Given the description of an element on the screen output the (x, y) to click on. 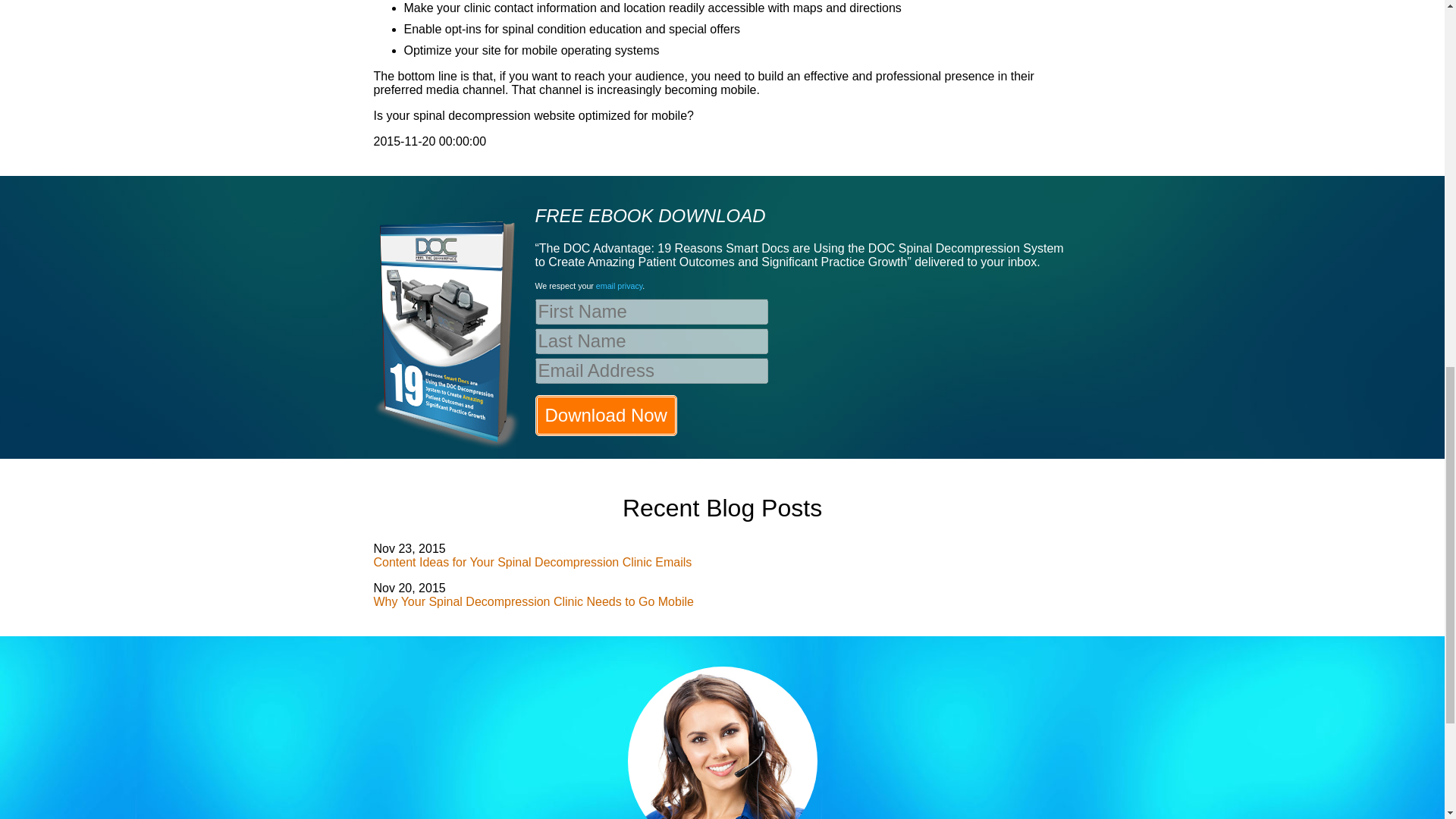
Why Your Spinal Decompression Clinic Needs to Go Mobile (532, 601)
email privacy (618, 285)
Content Ideas for Your Spinal Decompression Clinic Emails (531, 562)
Privacy Policy (618, 285)
Download Now (606, 414)
Download Now (606, 414)
